Given the description of an element on the screen output the (x, y) to click on. 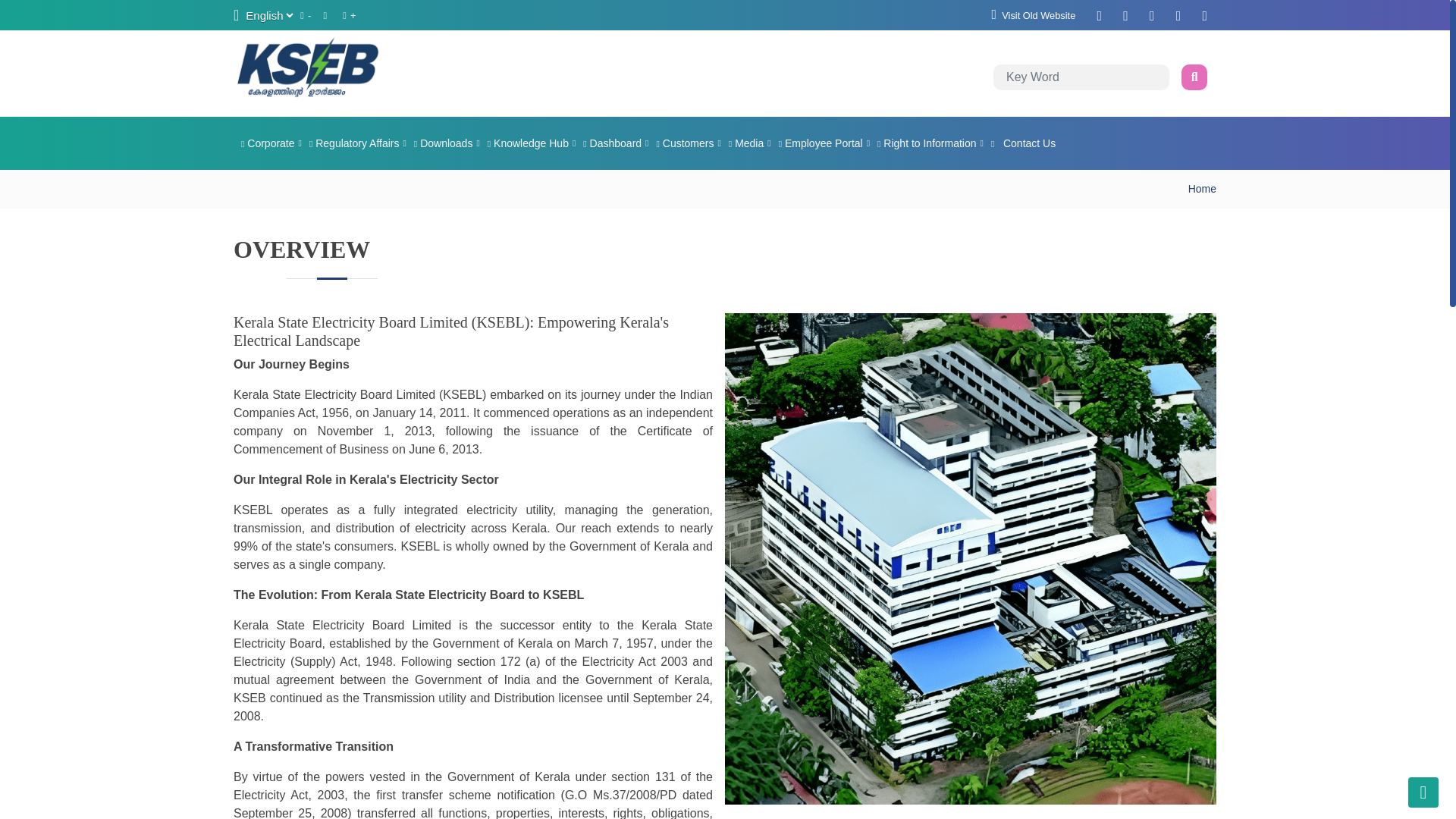
  Visit Old Website (1033, 15)
Corporate (266, 143)
Regulatory Affairs (353, 143)
- (305, 15)
